Given the description of an element on the screen output the (x, y) to click on. 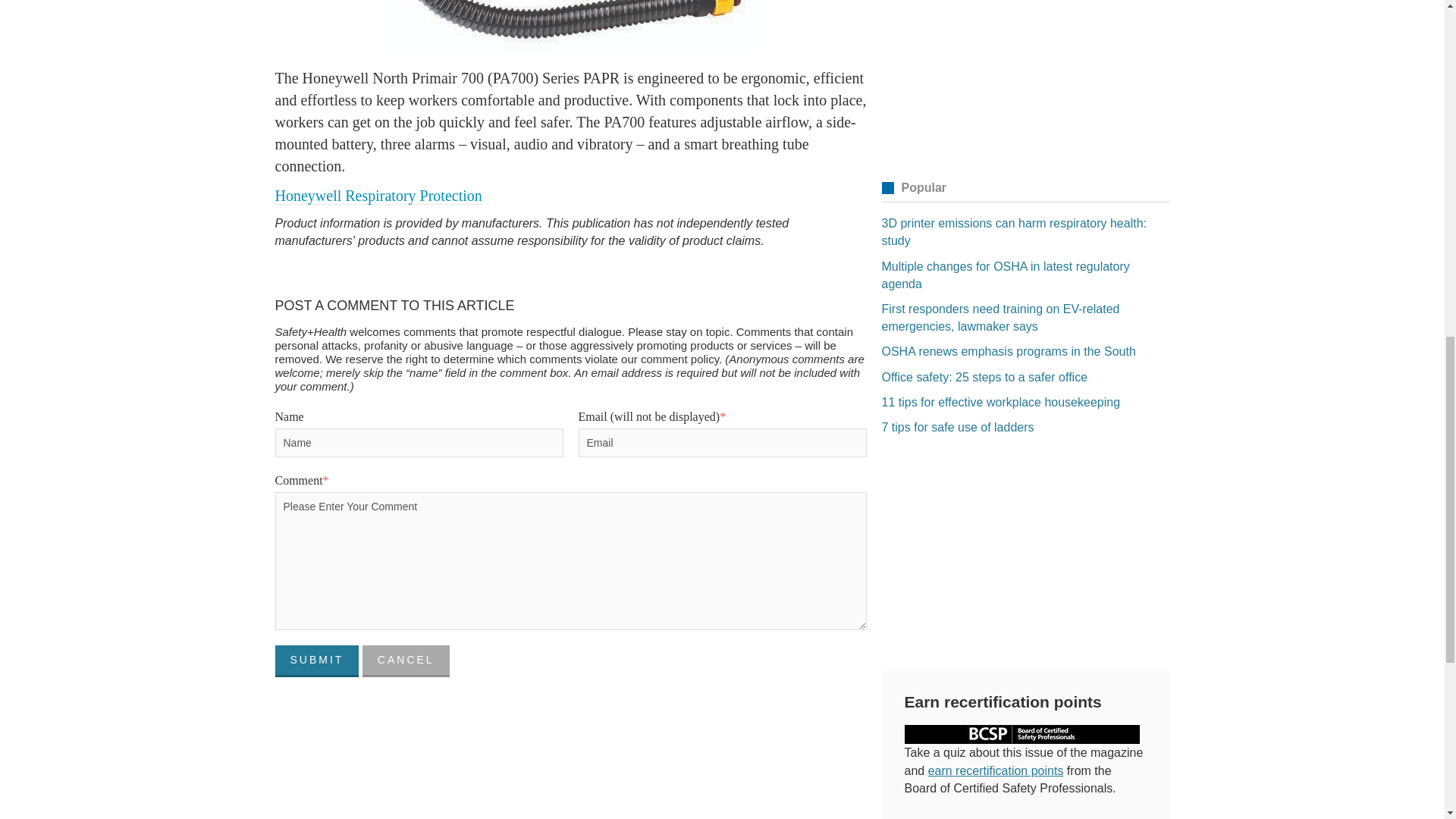
Cancel (405, 661)
Submit (316, 661)
Email (722, 442)
Name (418, 442)
